Given the description of an element on the screen output the (x, y) to click on. 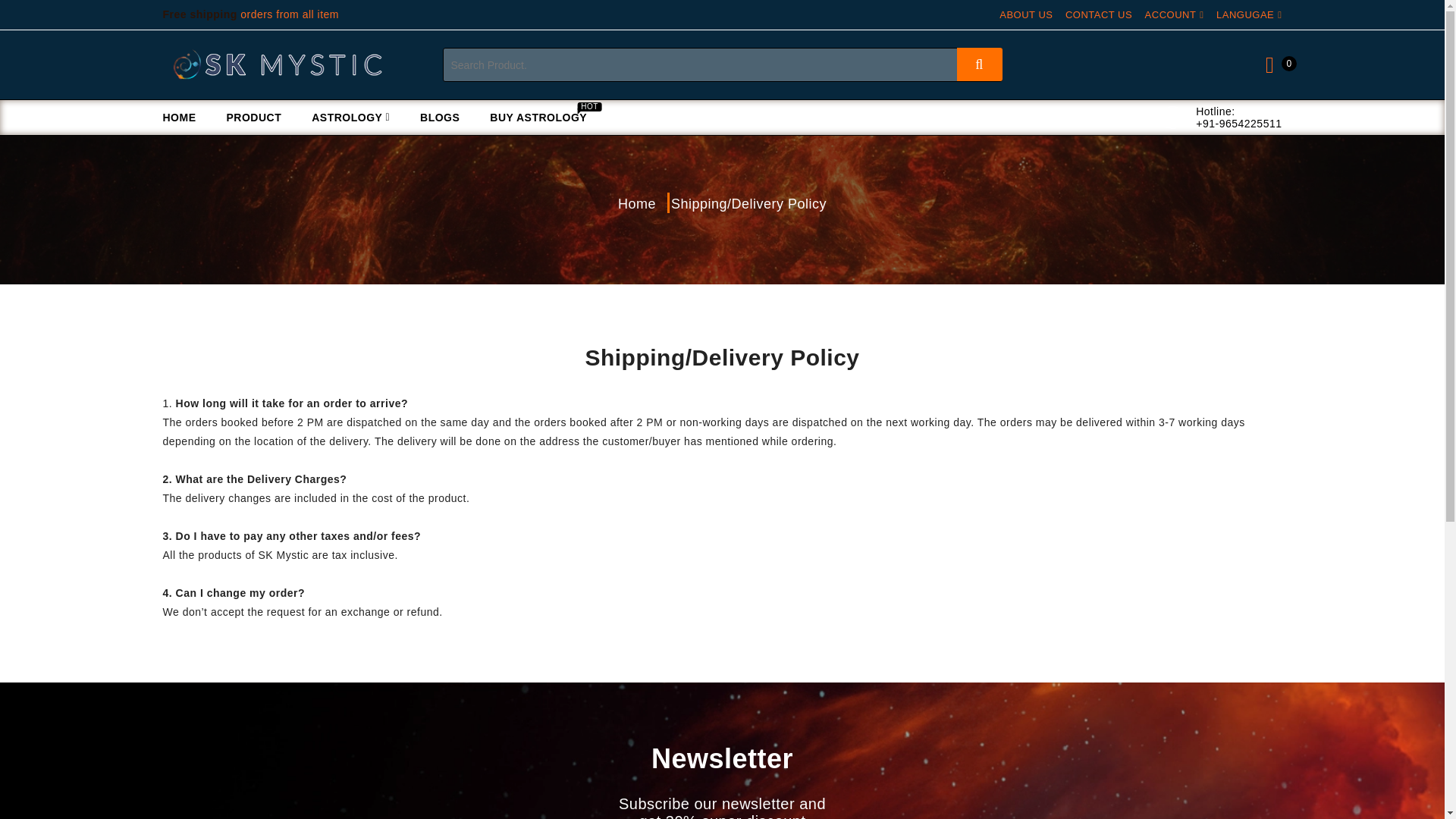
PRODUCT (254, 117)
BLOGS (439, 117)
ASTROLOGY (350, 117)
CONTACT US (1098, 14)
HOME (186, 117)
LANGUGAE (538, 117)
ACCOUNT (1244, 14)
Home (1170, 14)
ABOUT US (636, 204)
